Given the description of an element on the screen output the (x, y) to click on. 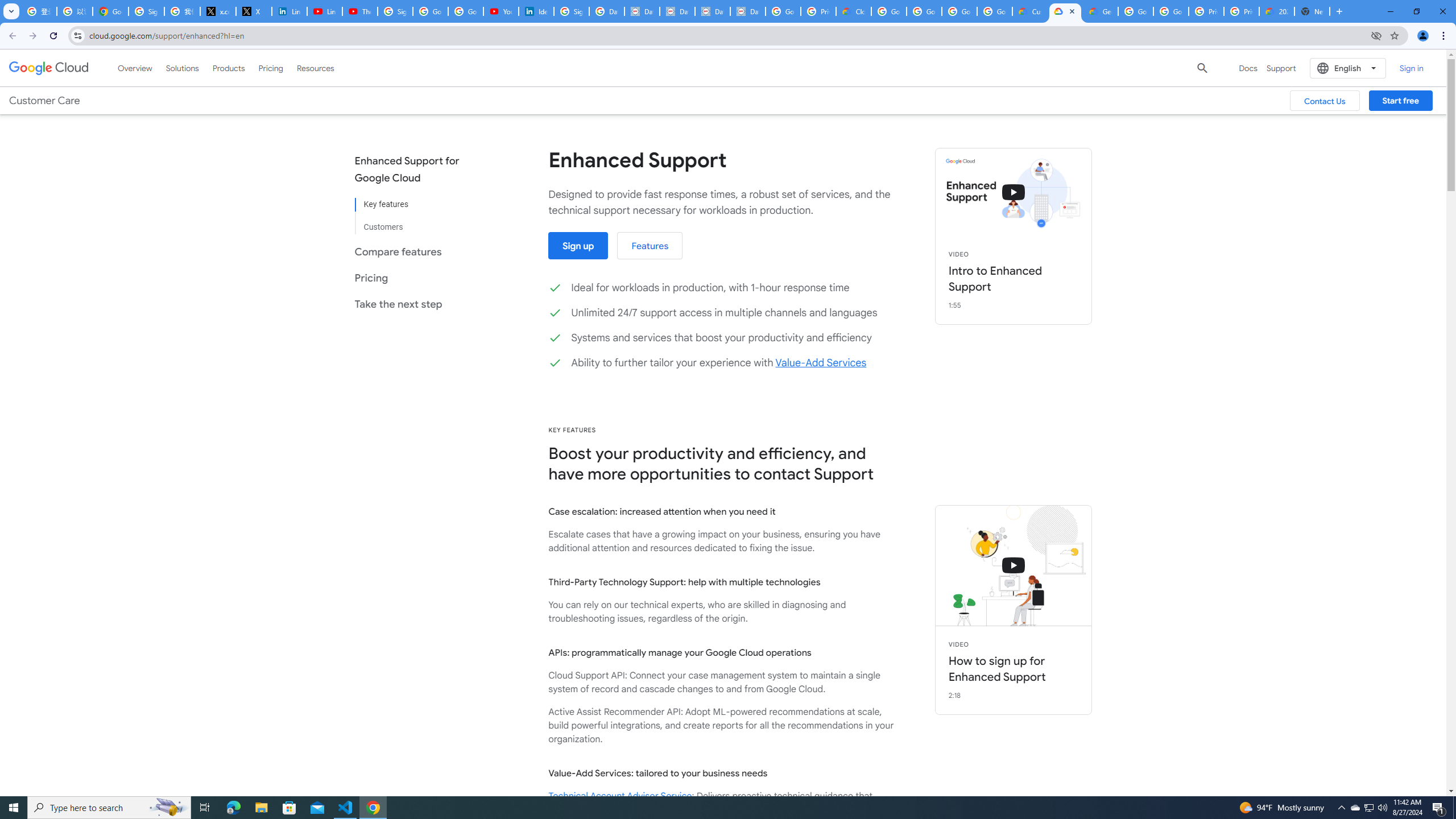
Sign in - Google Accounts (145, 11)
Solutions (181, 67)
Customers (414, 222)
Key features (414, 204)
connecting with support (1013, 565)
Google Workspace - Specific Terms (994, 11)
Data Privacy Framework (677, 11)
